Given the description of an element on the screen output the (x, y) to click on. 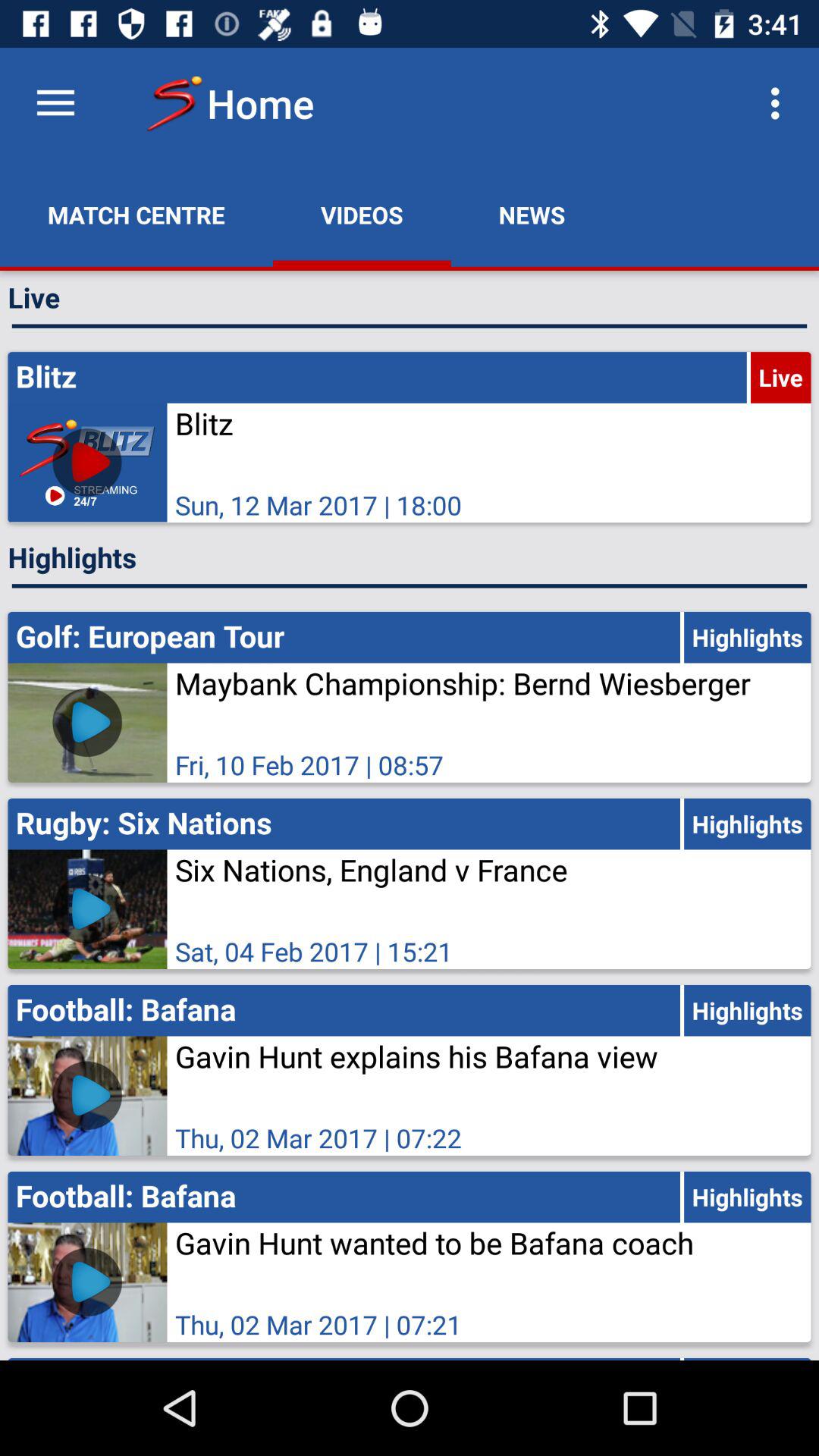
open the videos item (362, 214)
